Given the description of an element on the screen output the (x, y) to click on. 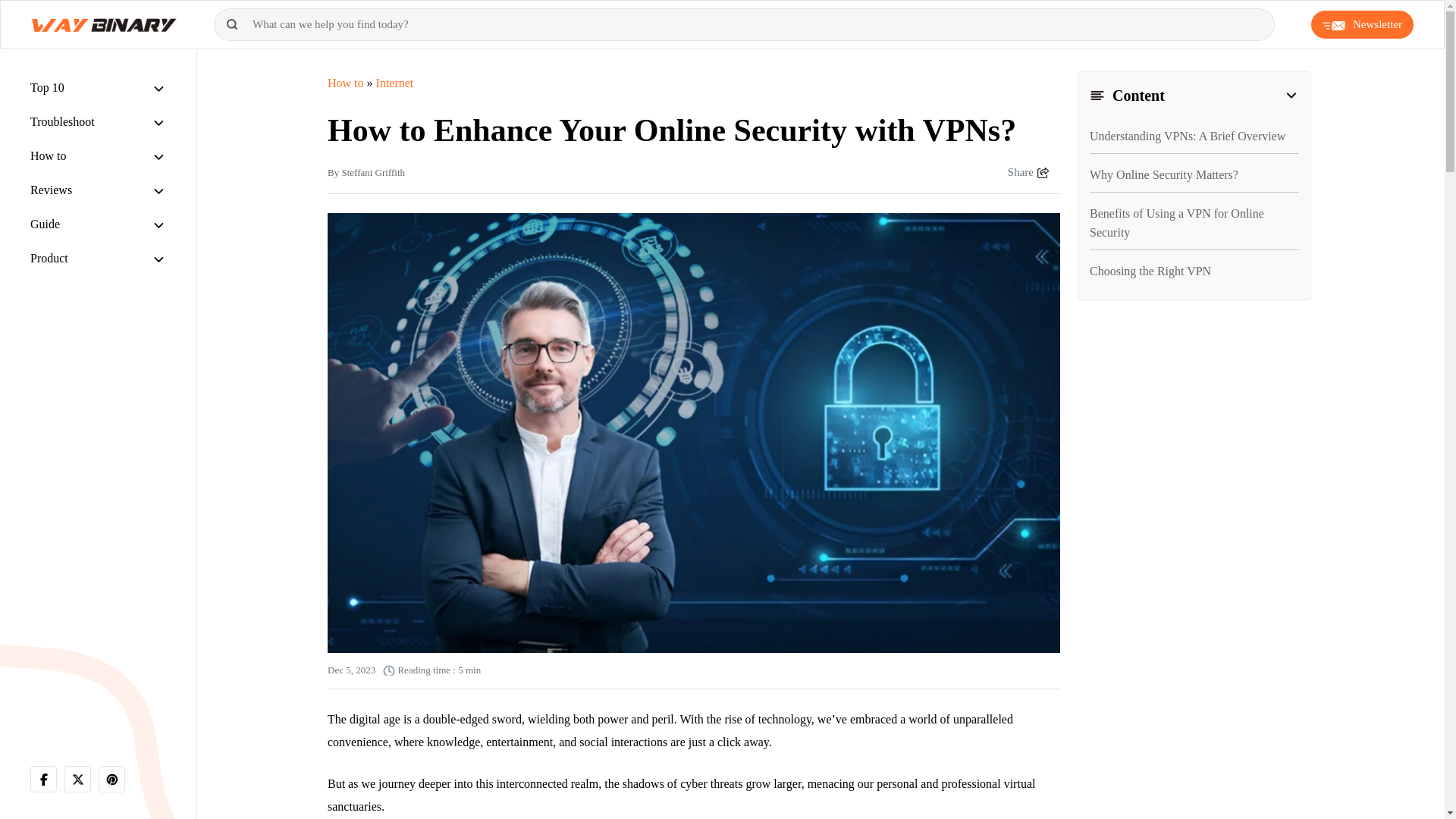
How to (48, 155)
Top 10 (47, 87)
Top 10 (47, 87)
Guide (44, 223)
Reviews (50, 189)
Troubleshoot (62, 121)
Troubleshoot (62, 121)
How to (48, 155)
Newsletter (1362, 24)
Search for: (744, 24)
